Given the description of an element on the screen output the (x, y) to click on. 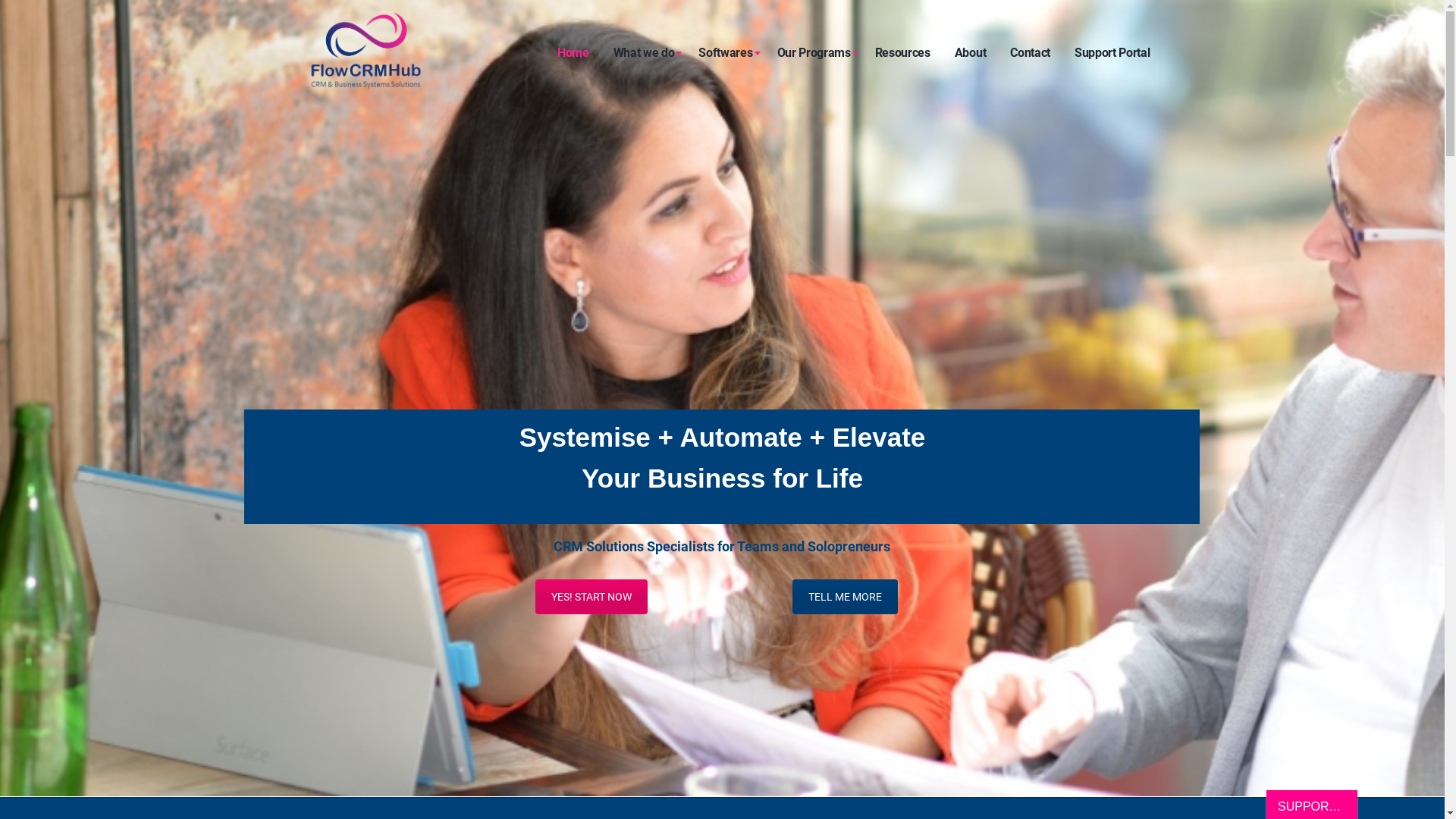
Contact Element type: text (1029, 52)
Support Portal Element type: text (1112, 52)
What we do Element type: text (644, 52)
Home Element type: text (573, 52)
About Element type: text (969, 52)
TELL ME MORE Element type: text (844, 596)
Our Programs Element type: text (813, 52)
Resources Element type: text (902, 52)
YES! START NOW Element type: text (591, 596)
Softwares Element type: text (725, 52)
